Given the description of an element on the screen output the (x, y) to click on. 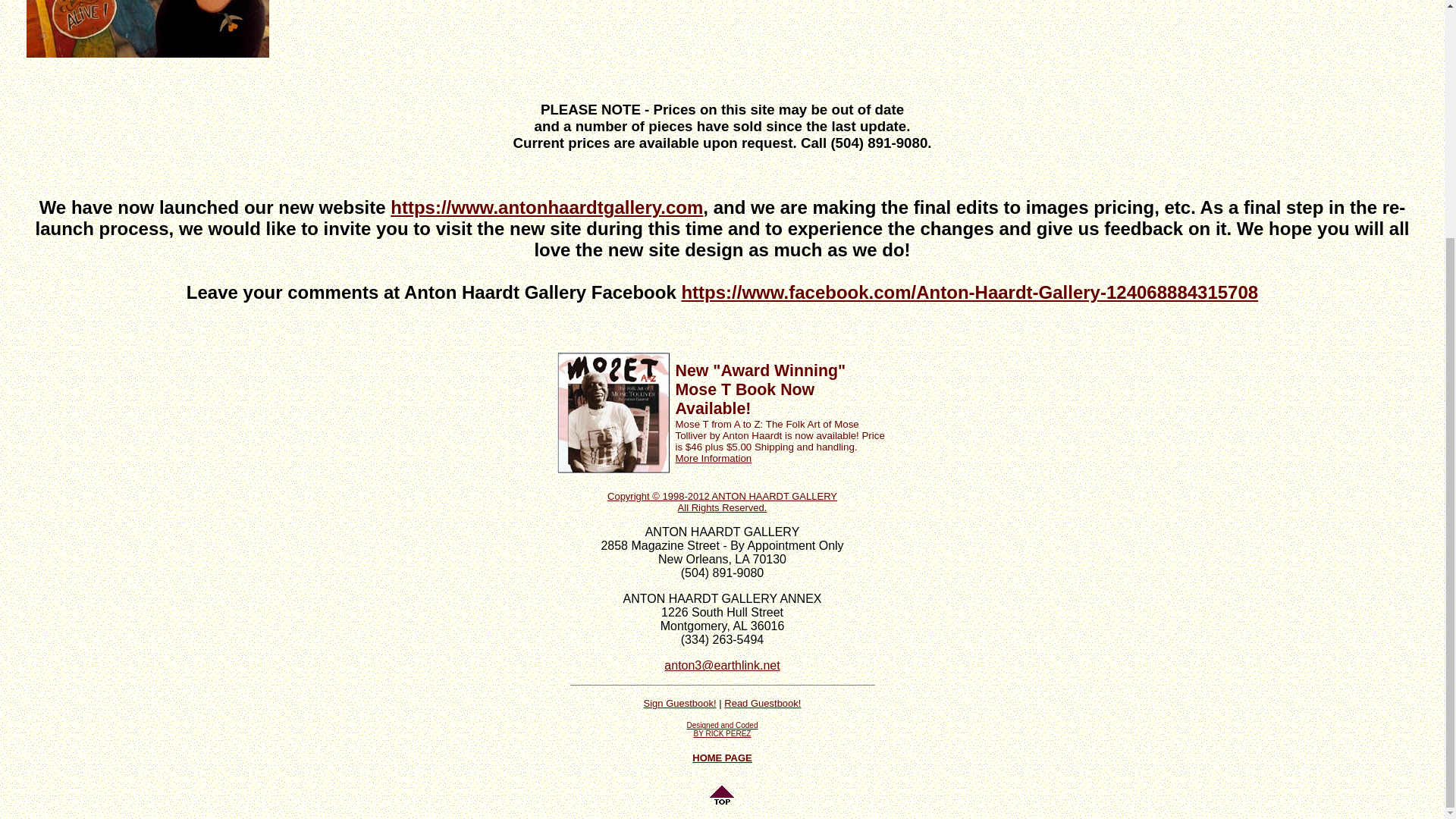
Read Guestbook! (761, 702)
More Information (713, 458)
HOME PAGE (722, 756)
Sign Guestbook! (722, 729)
